Given the description of an element on the screen output the (x, y) to click on. 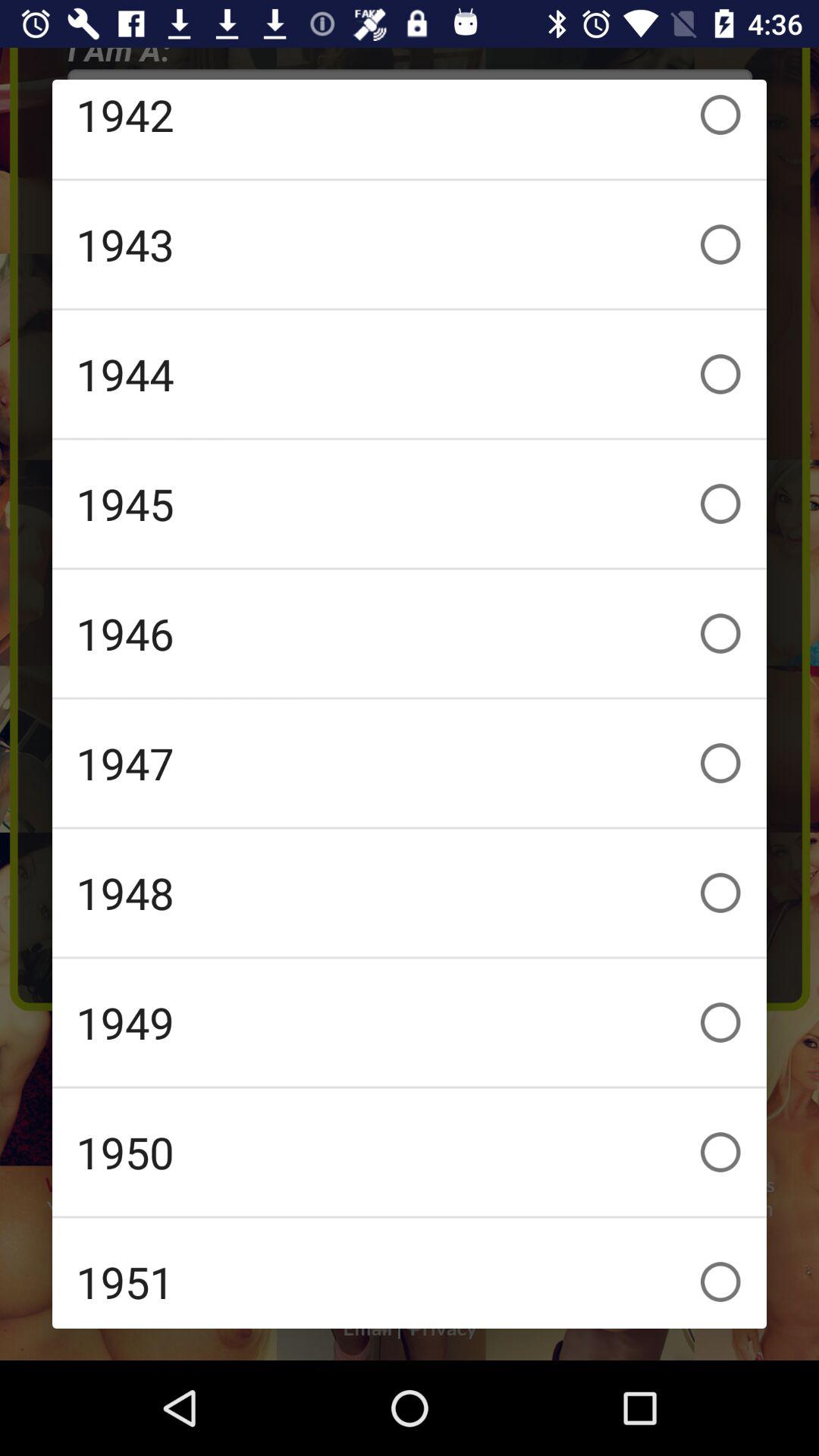
choose the 1946 icon (409, 633)
